Given the description of an element on the screen output the (x, y) to click on. 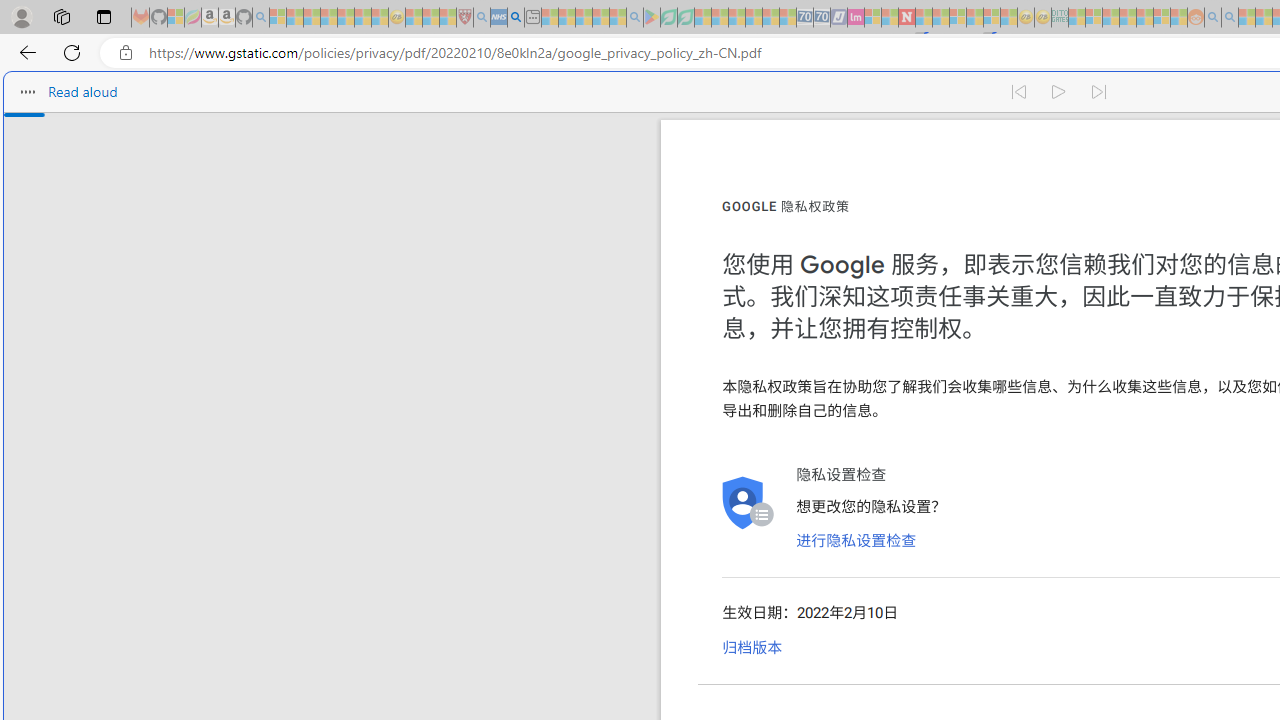
Microsoft Start - Sleeping (1247, 17)
DITOGAMES AG Imprint - Sleeping (1059, 17)
Read next paragraph (1099, 92)
Cheap Hotels - Save70.com - Sleeping (821, 17)
Read previous paragraph (1018, 92)
The Weather Channel - MSN - Sleeping (311, 17)
list of asthma inhalers uk - Search - Sleeping (481, 17)
Robert H. Shmerling, MD - Harvard Health - Sleeping (465, 17)
14 Common Myths Debunked By Scientific Facts - Sleeping (940, 17)
